Given the description of an element on the screen output the (x, y) to click on. 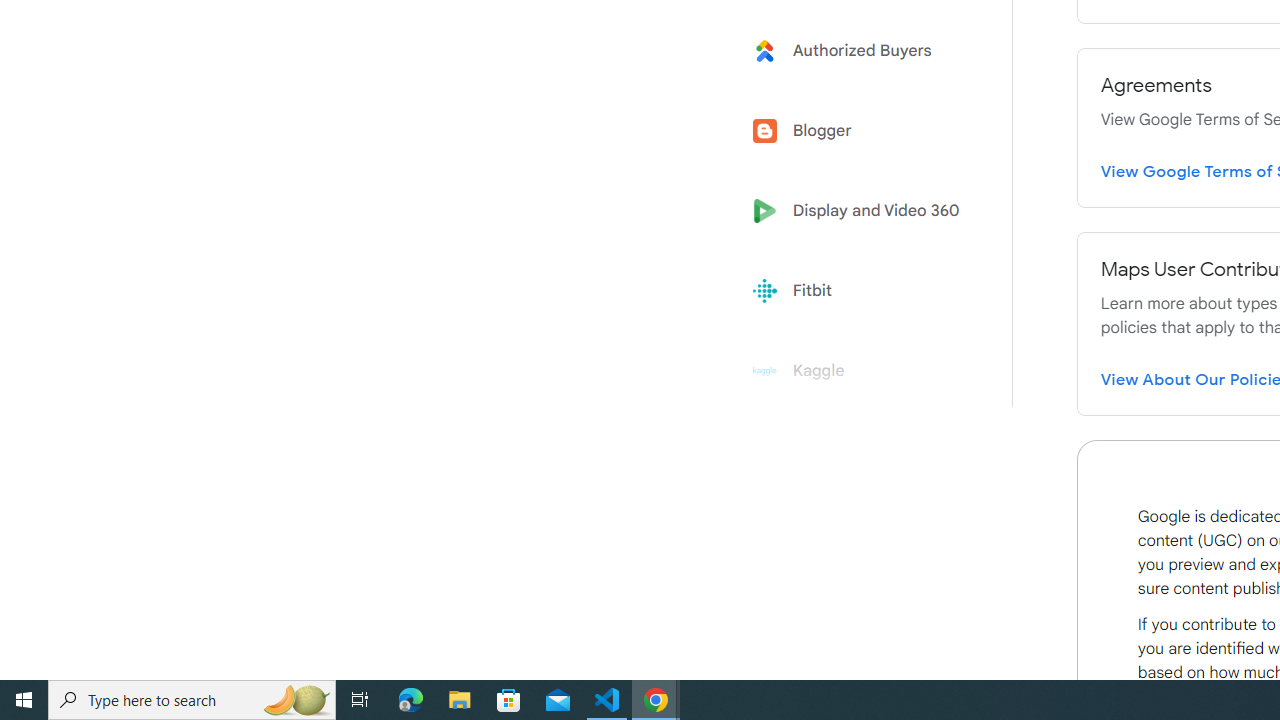
Blogger (862, 130)
Learn more about Authorized Buyers (862, 50)
Display and Video 360 (862, 211)
Fitbit (862, 291)
Kaggle (862, 371)
Learn more about Authorized Buyers (862, 50)
Blogger (862, 130)
Display and Video 360 (862, 211)
Kaggle (862, 371)
Fitbit (862, 291)
